Given the description of an element on the screen output the (x, y) to click on. 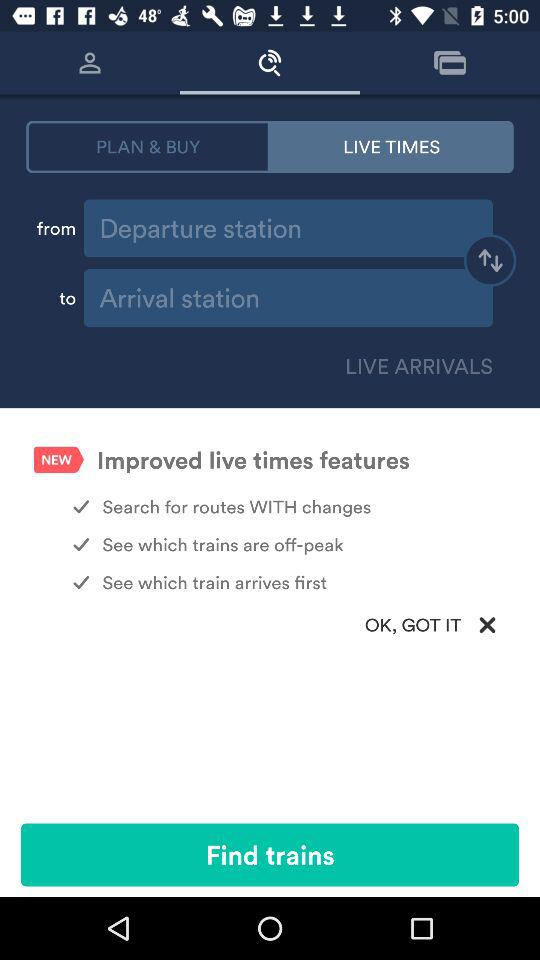
press live arrivals on the right (415, 366)
